Given the description of an element on the screen output the (x, y) to click on. 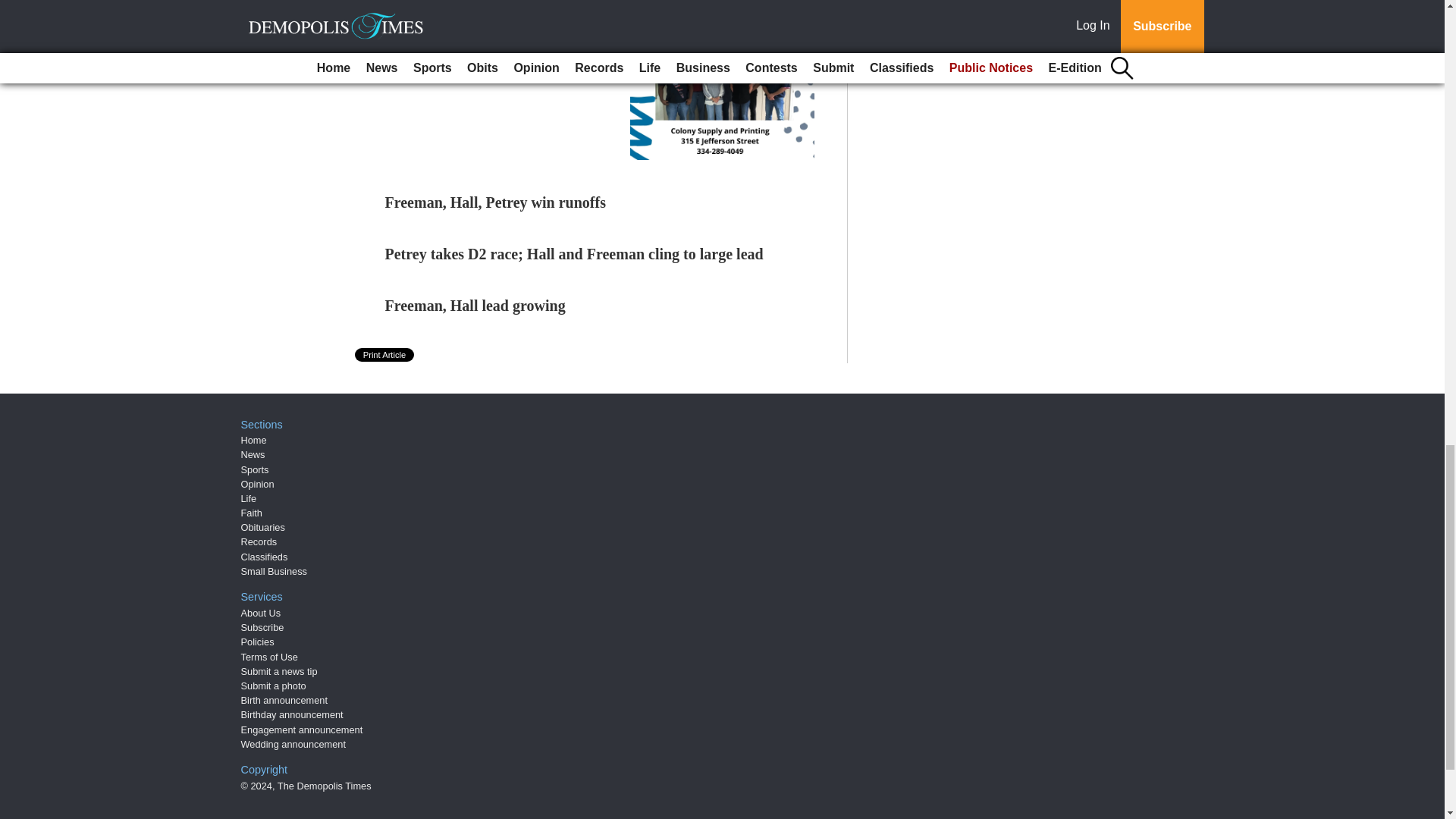
Freeman, Hall lead growing (475, 305)
Obituaries (263, 527)
Sports (255, 469)
Home (253, 439)
Faith (251, 512)
Freeman, Hall, Petrey win runoffs (495, 202)
Opinion (258, 483)
Life (249, 498)
News (252, 454)
Freeman, Hall lead growing (475, 305)
Print Article (384, 354)
Petrey takes D2 race; Hall and Freeman cling to large lead (573, 253)
Freeman, Hall, Petrey win runoffs (495, 202)
